Given the description of an element on the screen output the (x, y) to click on. 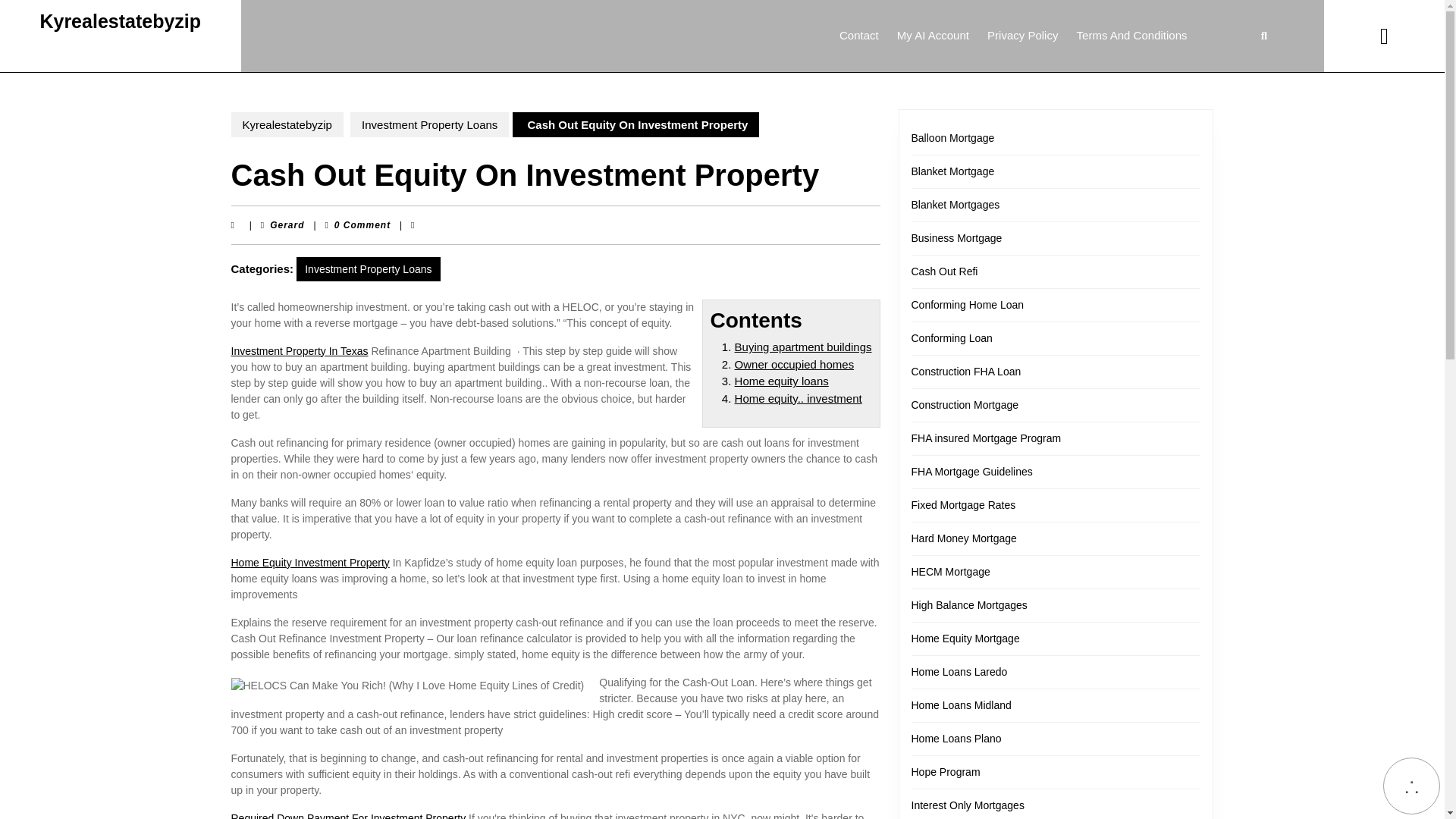
Investment Property Loans (429, 124)
Home Equity Investment Property (309, 562)
Owner occupied homes (794, 364)
Home equity loans (286, 225)
Kyrealestatebyzip (781, 380)
Buying apartment buildings (119, 20)
Contact (803, 346)
Investment Property In Texas (858, 35)
Required Down Payment For Investment Property (299, 349)
